Given the description of an element on the screen output the (x, y) to click on. 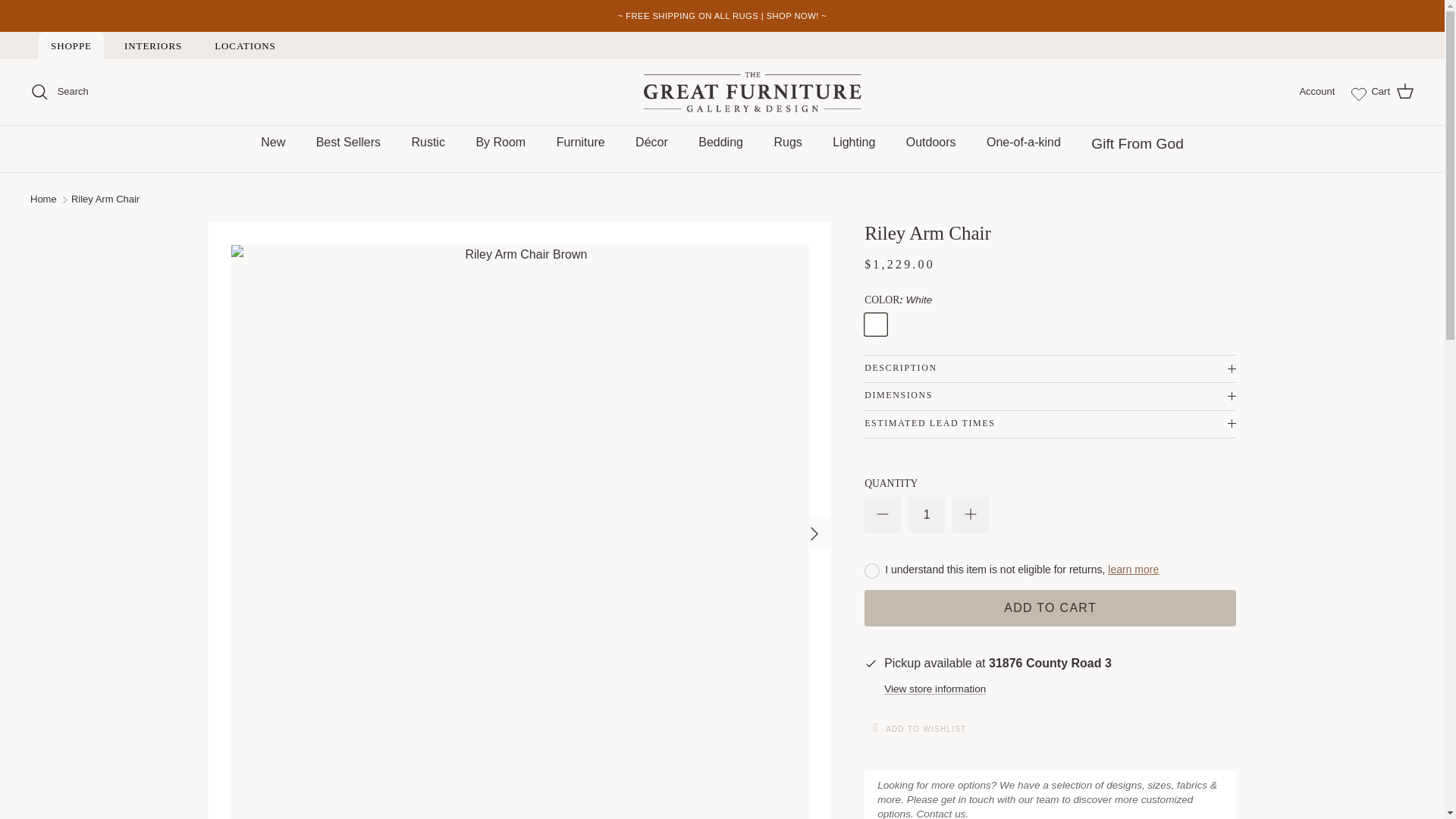
SHOPPE (71, 45)
By Room (499, 142)
Furniture (580, 142)
Rustic (427, 142)
Search (59, 91)
1 (926, 514)
Account (1316, 91)
New (272, 142)
INTERIORS (152, 45)
All Rugs (726, 15)
